Given the description of an element on the screen output the (x, y) to click on. 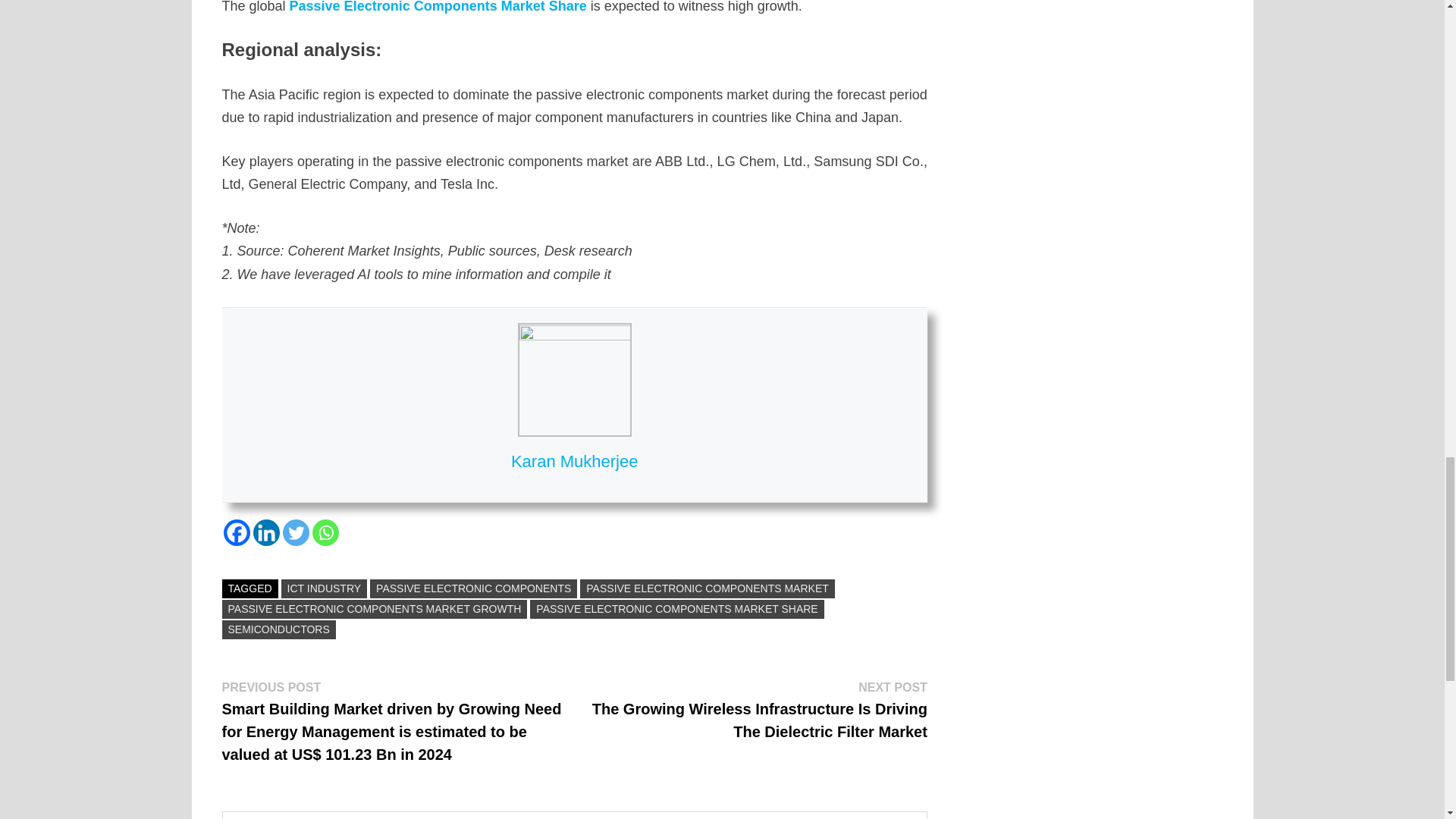
Facebook (235, 532)
Whatsapp (326, 532)
Twitter (295, 532)
Linkedin (266, 532)
